Given the description of an element on the screen output the (x, y) to click on. 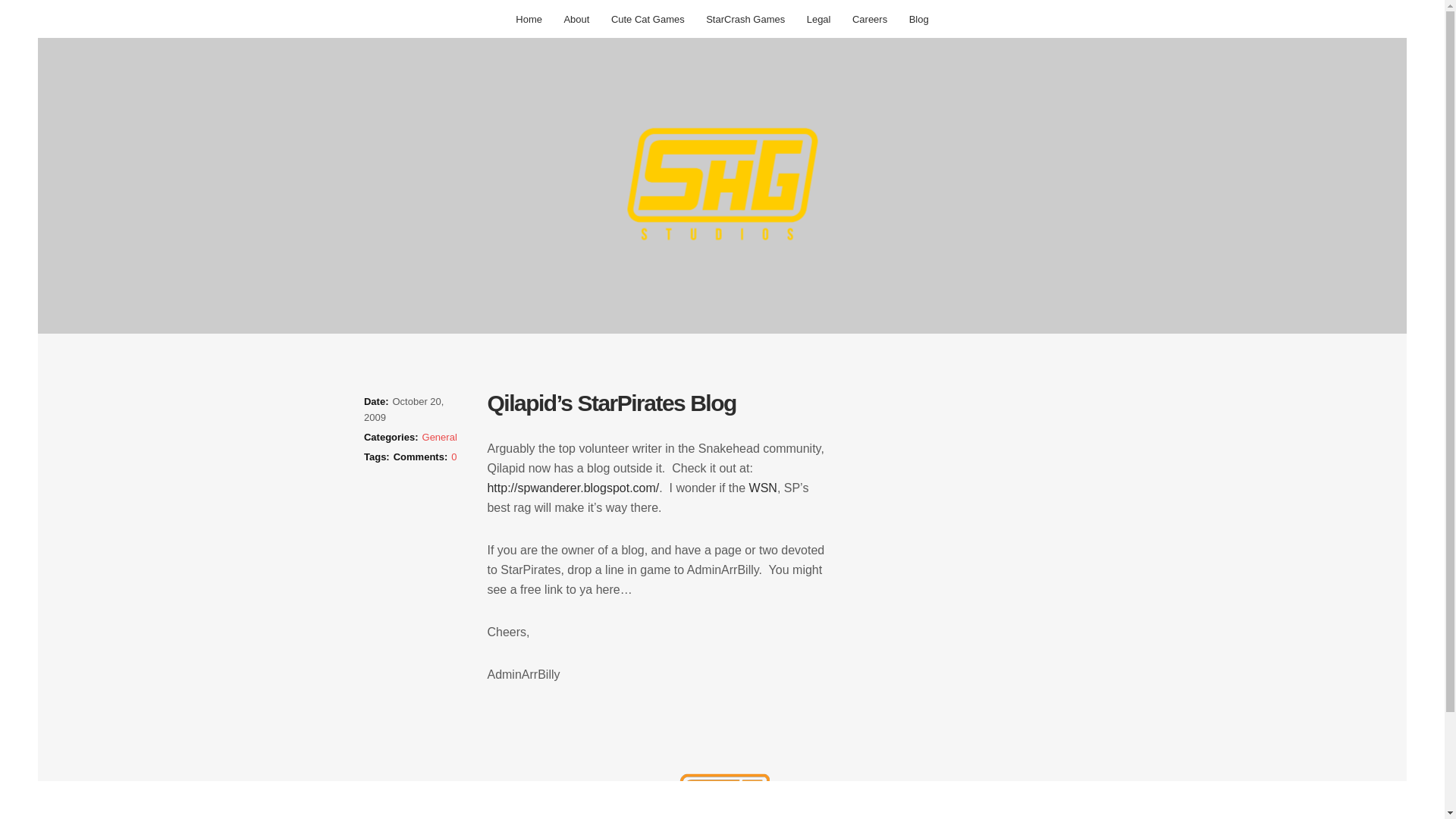
Blog (918, 19)
Careers (869, 19)
Cute Cat Games (648, 19)
StarCrash Games (745, 19)
Home (528, 19)
About (576, 19)
Legal (818, 19)
General (439, 437)
Qilapid's SP Blog (572, 487)
WSN (763, 487)
